Given the description of an element on the screen output the (x, y) to click on. 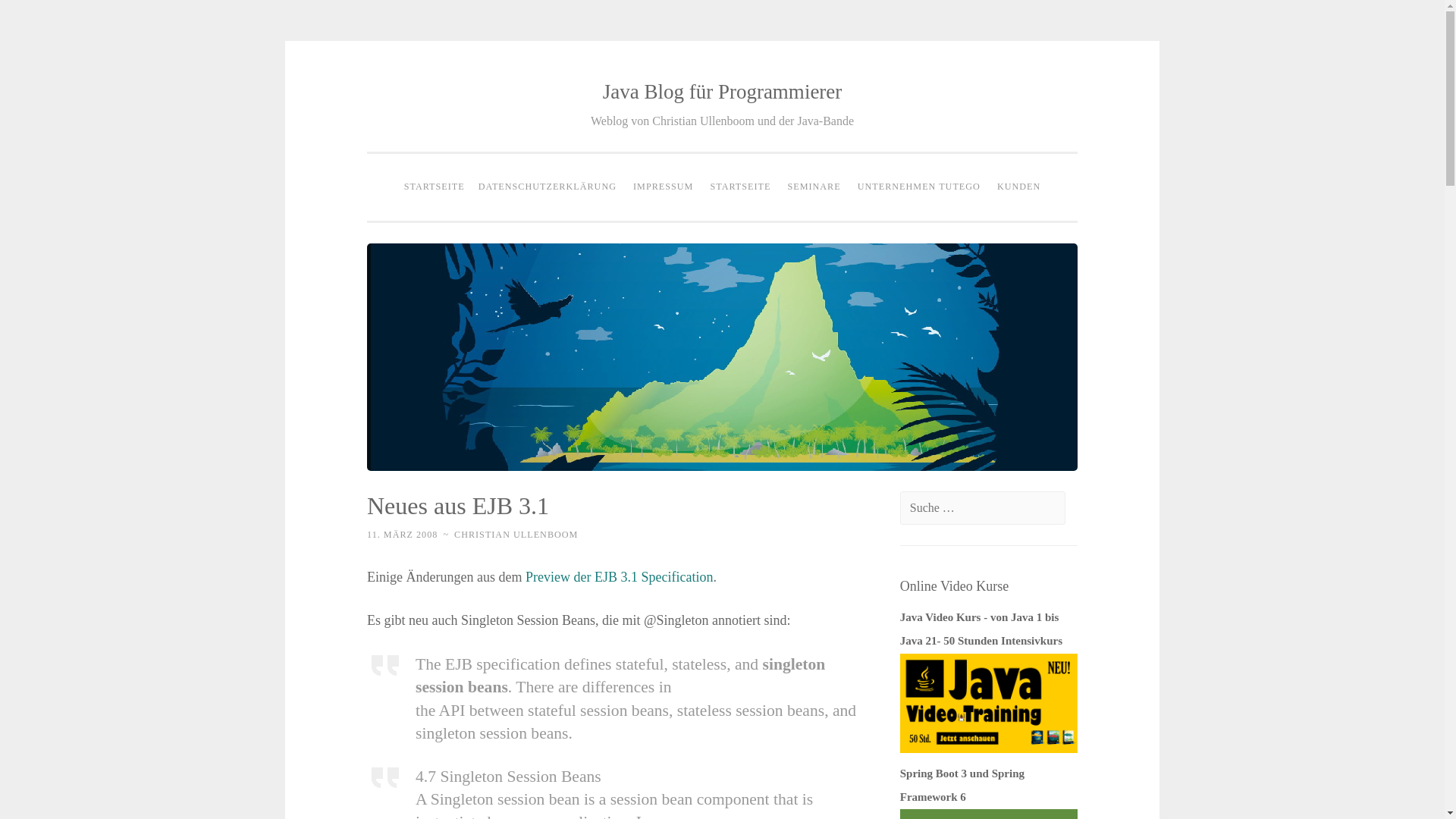
UNTERNEHMEN TUTEGO (918, 186)
Preview der EJB 3.1 Specification (619, 576)
STARTSEITE (740, 186)
KUNDEN (1018, 186)
Suche (34, 16)
STARTSEITE (434, 186)
SEMINARE (813, 186)
CHRISTIAN ULLENBOOM (516, 534)
IMPRESSUM (663, 186)
